Given the description of an element on the screen output the (x, y) to click on. 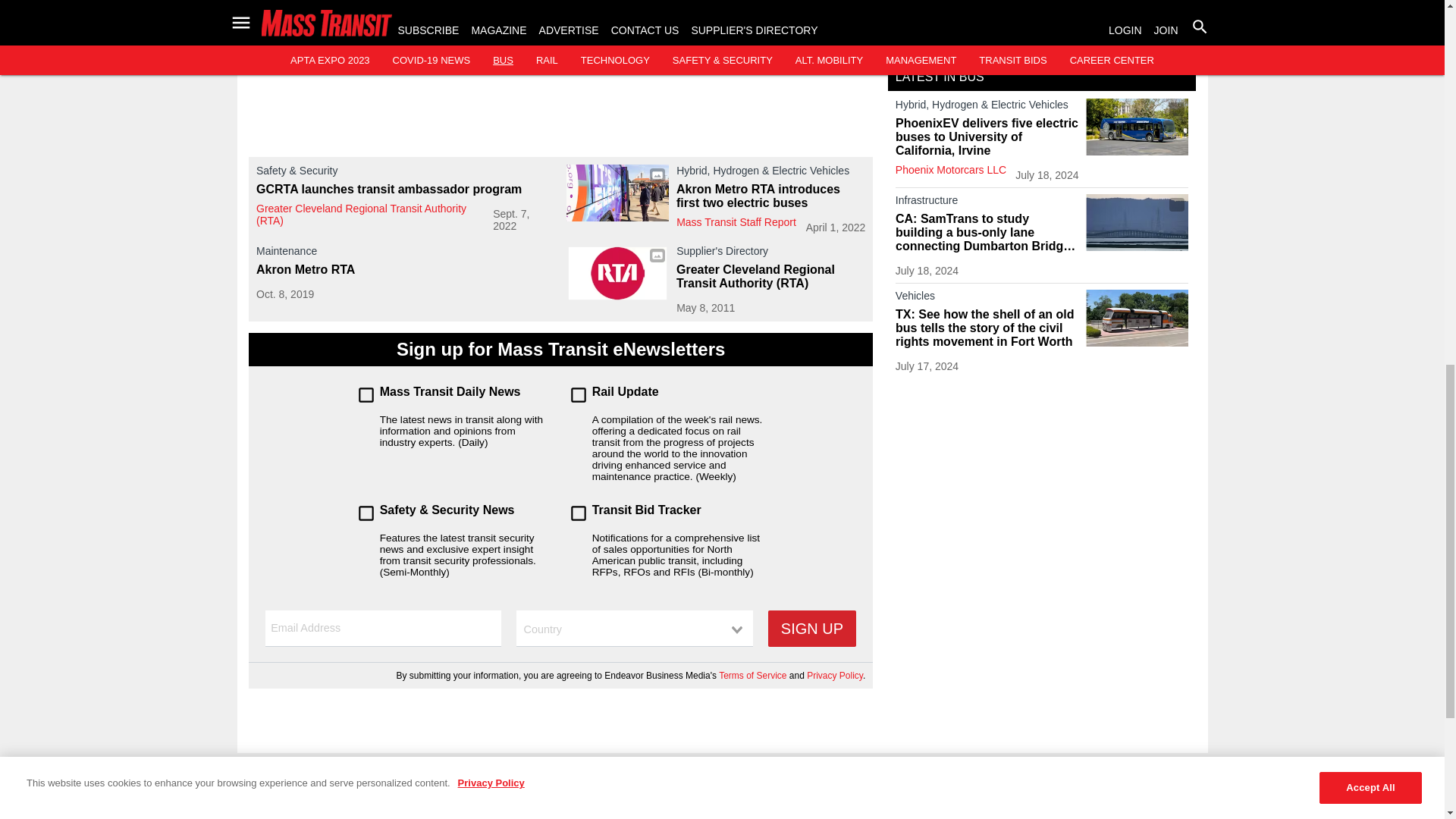
Logo Rta 11224479 (617, 273)
